Given the description of an element on the screen output the (x, y) to click on. 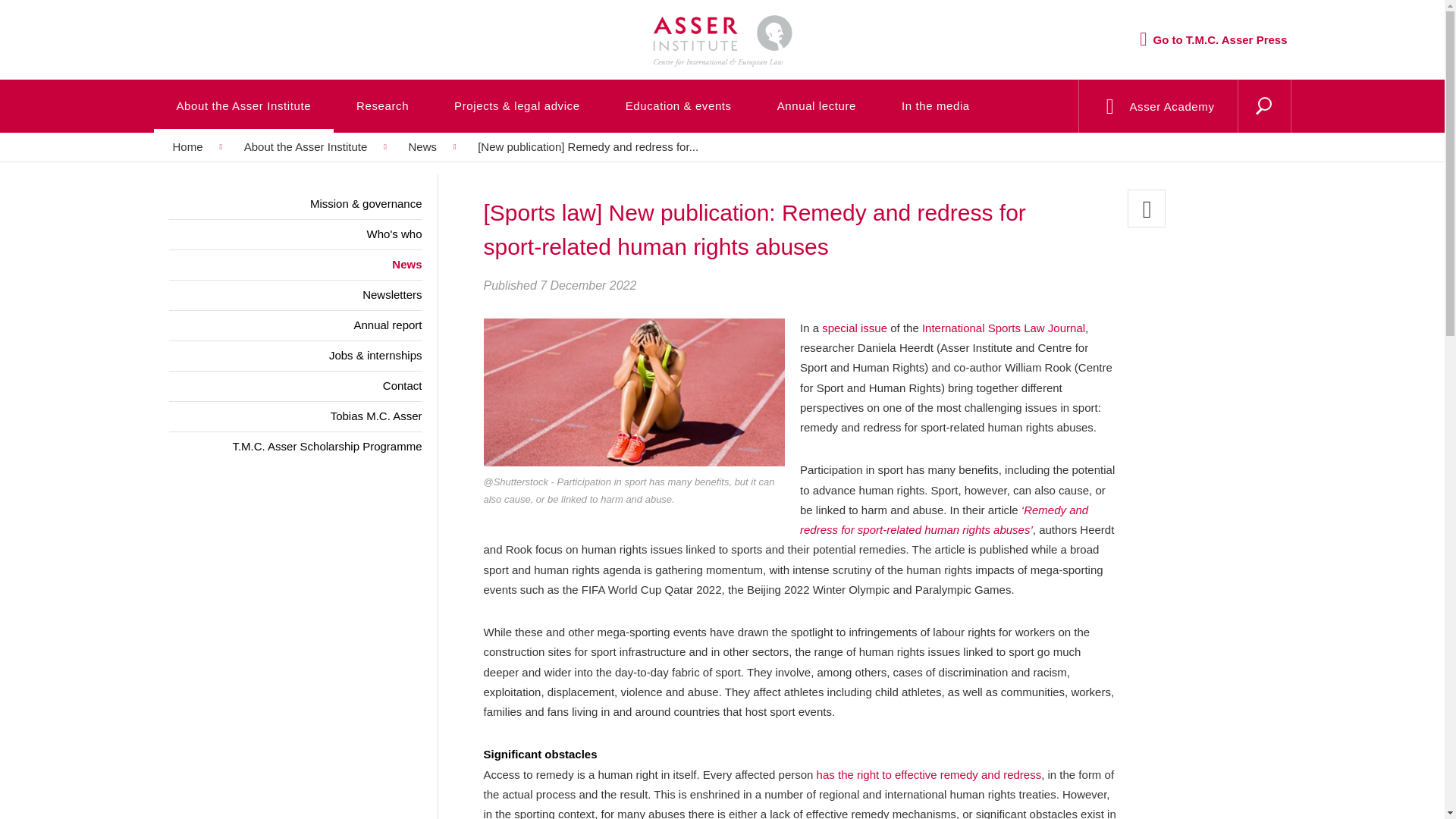
Go to T.M.C. Asser Press (1213, 38)
Search (1227, 125)
Search (1227, 125)
About the Asser Institute (242, 105)
Go back to T.M.C. Asser Instituut Homepage (721, 27)
